Given the description of an element on the screen output the (x, y) to click on. 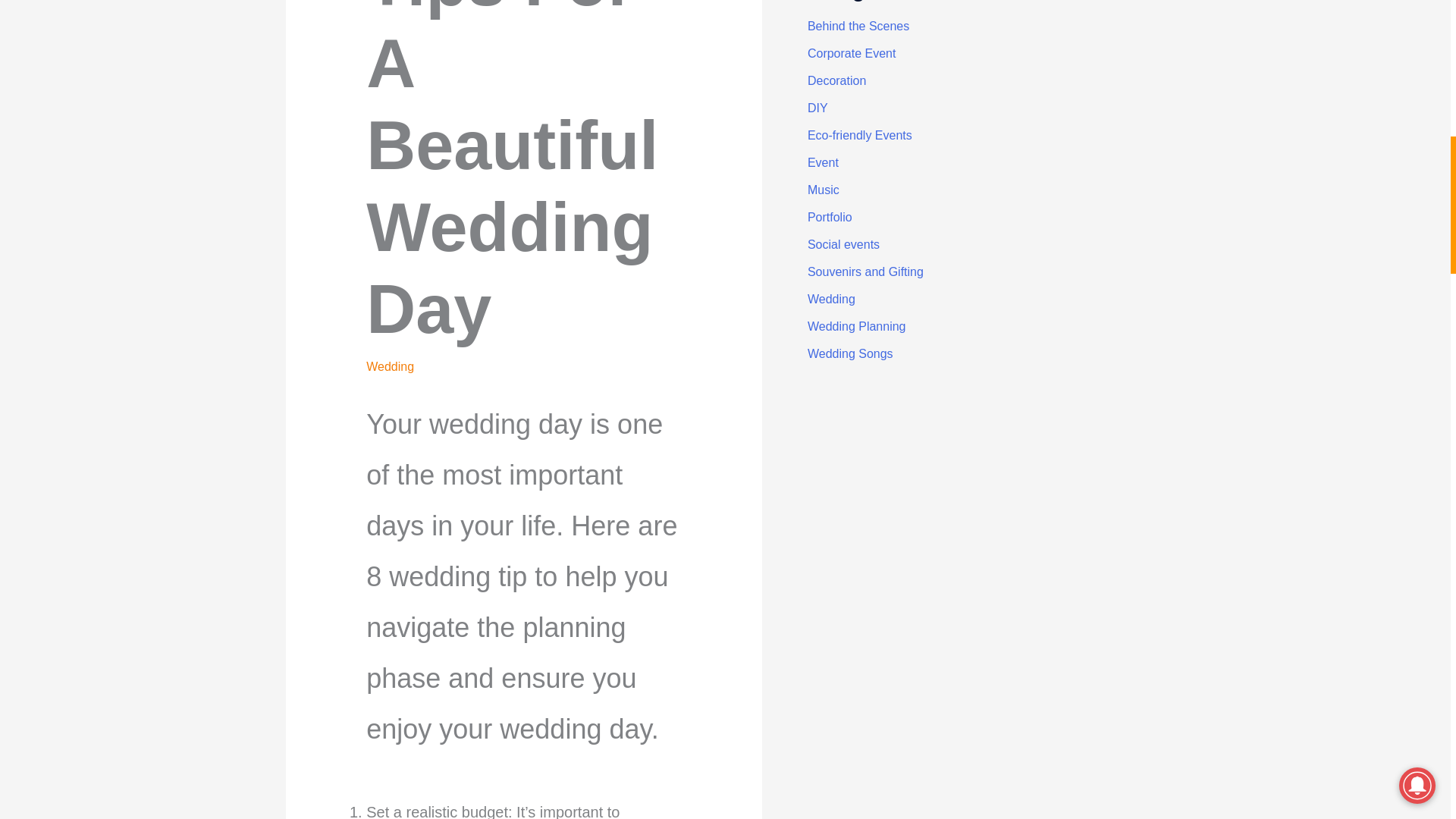
Wedding (389, 366)
